Given the description of an element on the screen output the (x, y) to click on. 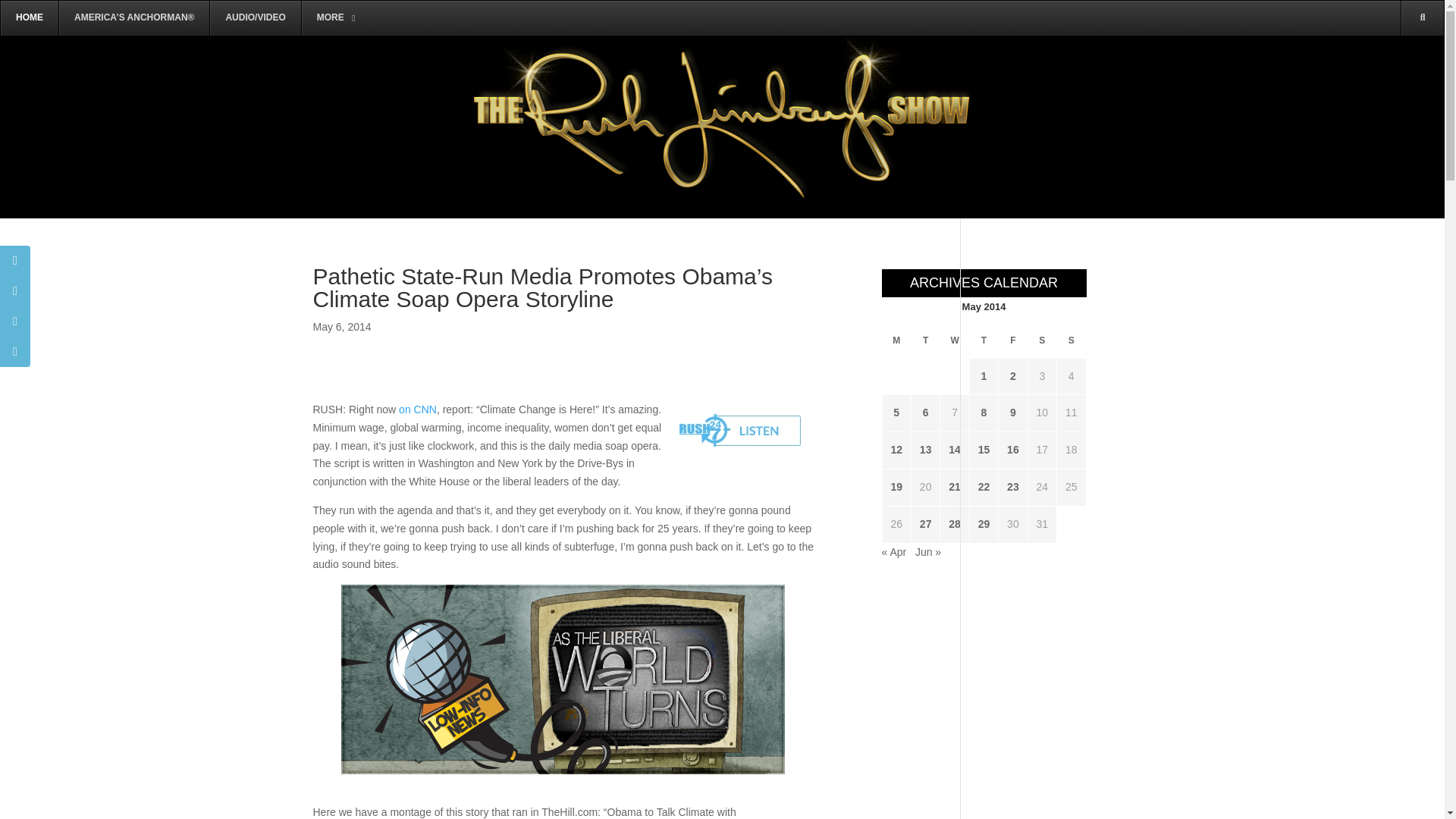
on CNN (417, 409)
Search (1400, 87)
HOME (29, 18)
